Given the description of an element on the screen output the (x, y) to click on. 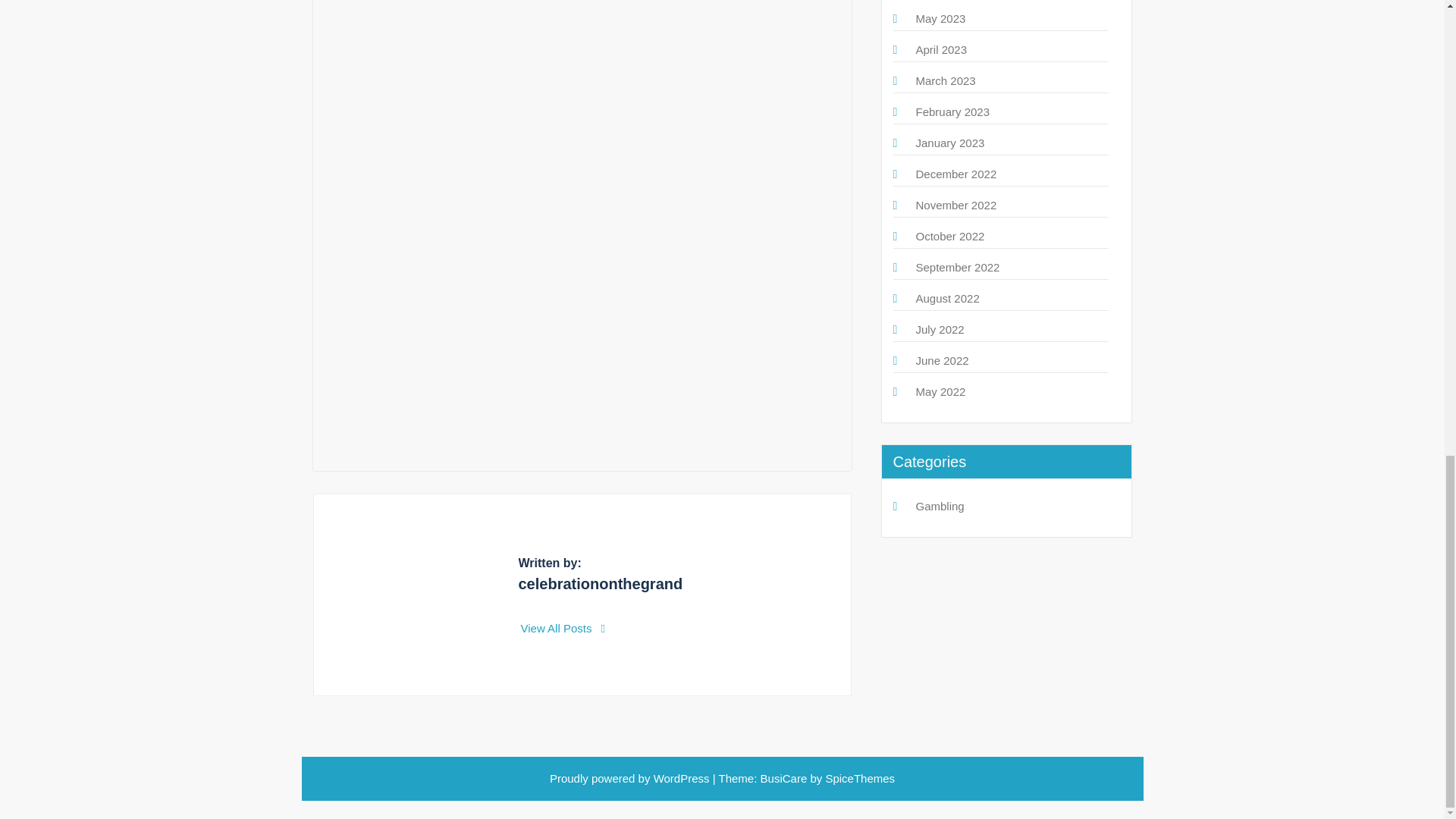
January 2023 (950, 142)
May 2022 (940, 391)
April 2023 (941, 49)
View All Posts (562, 627)
June 2022 (942, 359)
December 2022 (956, 173)
November 2022 (956, 205)
February 2023 (952, 111)
March 2023 (945, 80)
October 2022 (950, 236)
